Given the description of an element on the screen output the (x, y) to click on. 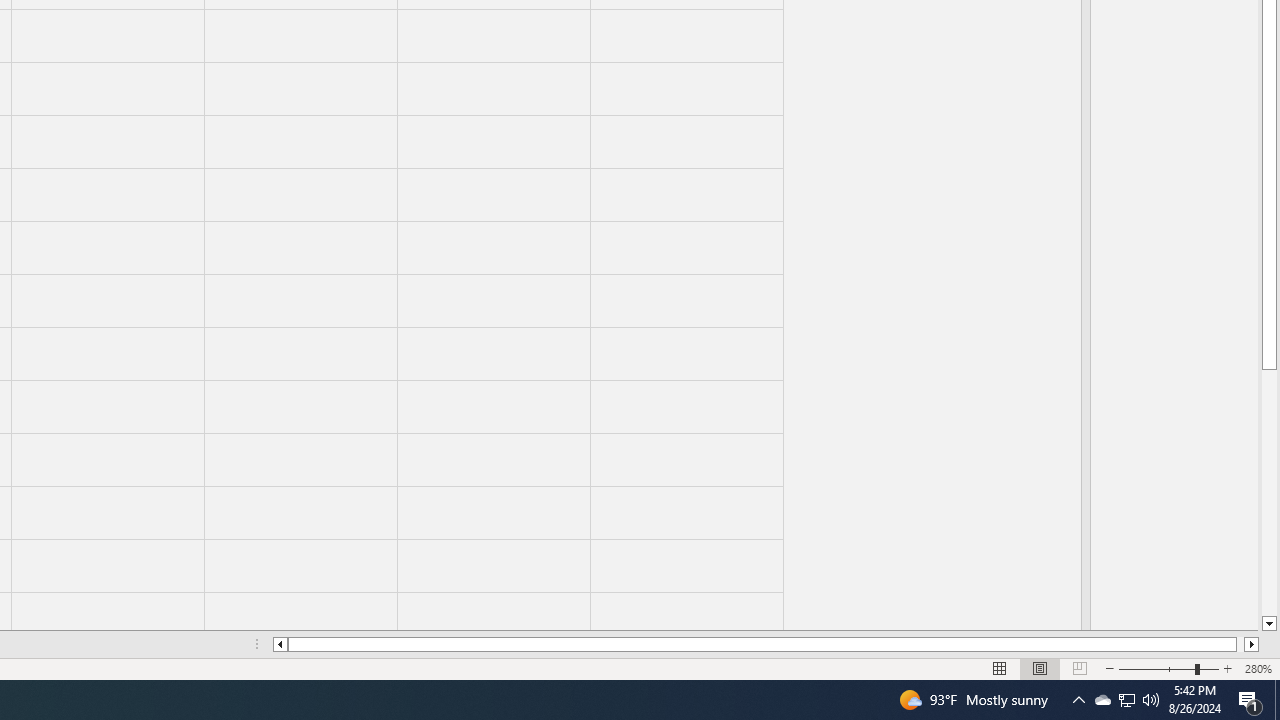
Page down (1268, 493)
